Given the description of an element on the screen output the (x, y) to click on. 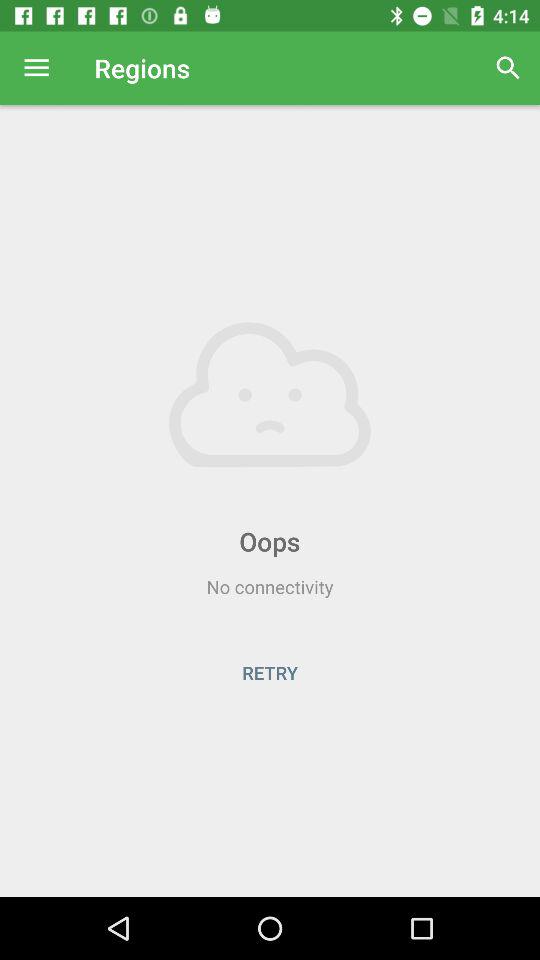
tap item to the left of regions icon (36, 68)
